Given the description of an element on the screen output the (x, y) to click on. 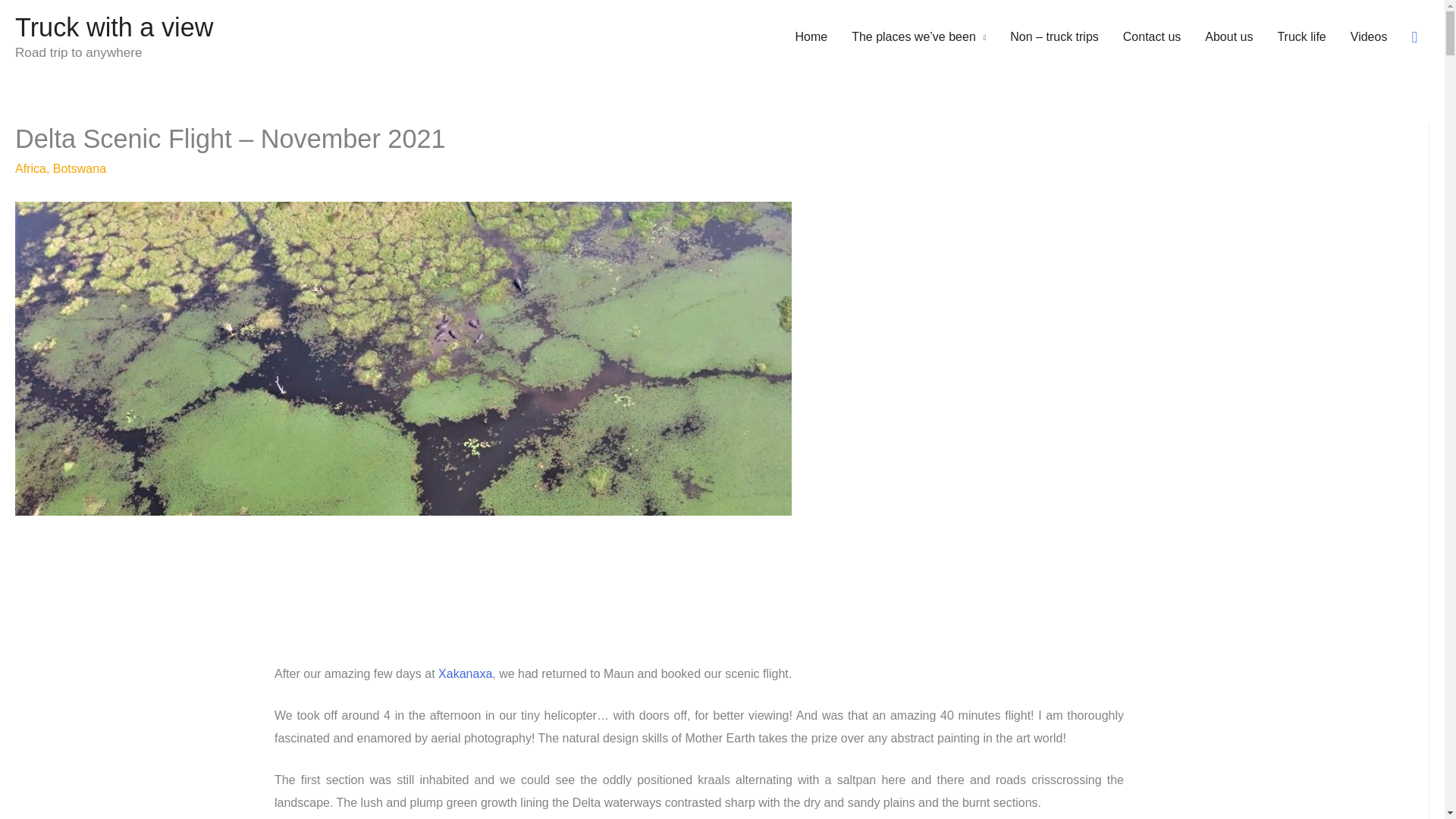
Home (811, 37)
Contact us (1151, 37)
Videos (1368, 37)
About us (1228, 37)
Xakanaxa (465, 673)
Truck with a view (114, 27)
Africa (30, 168)
Botswana (79, 168)
Truck life (1301, 37)
